Given the description of an element on the screen output the (x, y) to click on. 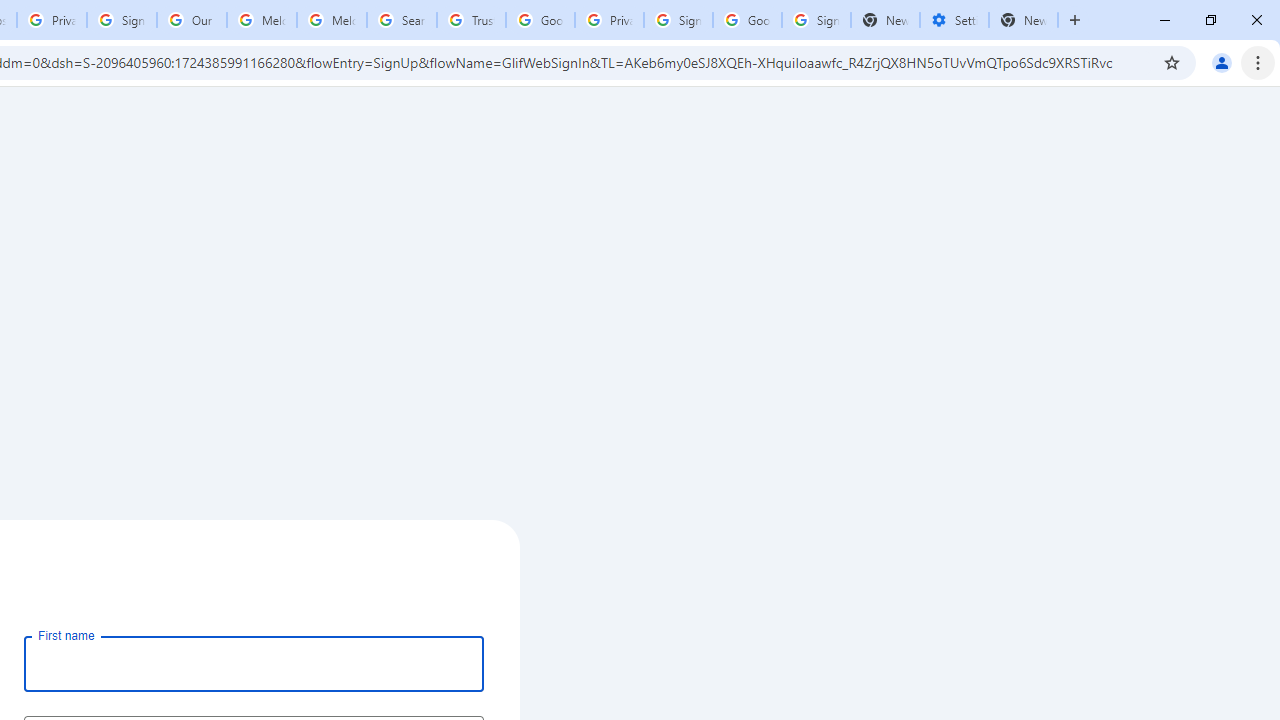
Search our Doodle Library Collection - Google Doodles (401, 20)
Trusted Information and Content - Google Safety Center (470, 20)
Google Cybersecurity Innovations - Google Safety Center (747, 20)
New Tab (1023, 20)
Sign in - Google Accounts (677, 20)
Sign in - Google Accounts (122, 20)
First name (253, 663)
Google Ads - Sign in (539, 20)
